Given the description of an element on the screen output the (x, y) to click on. 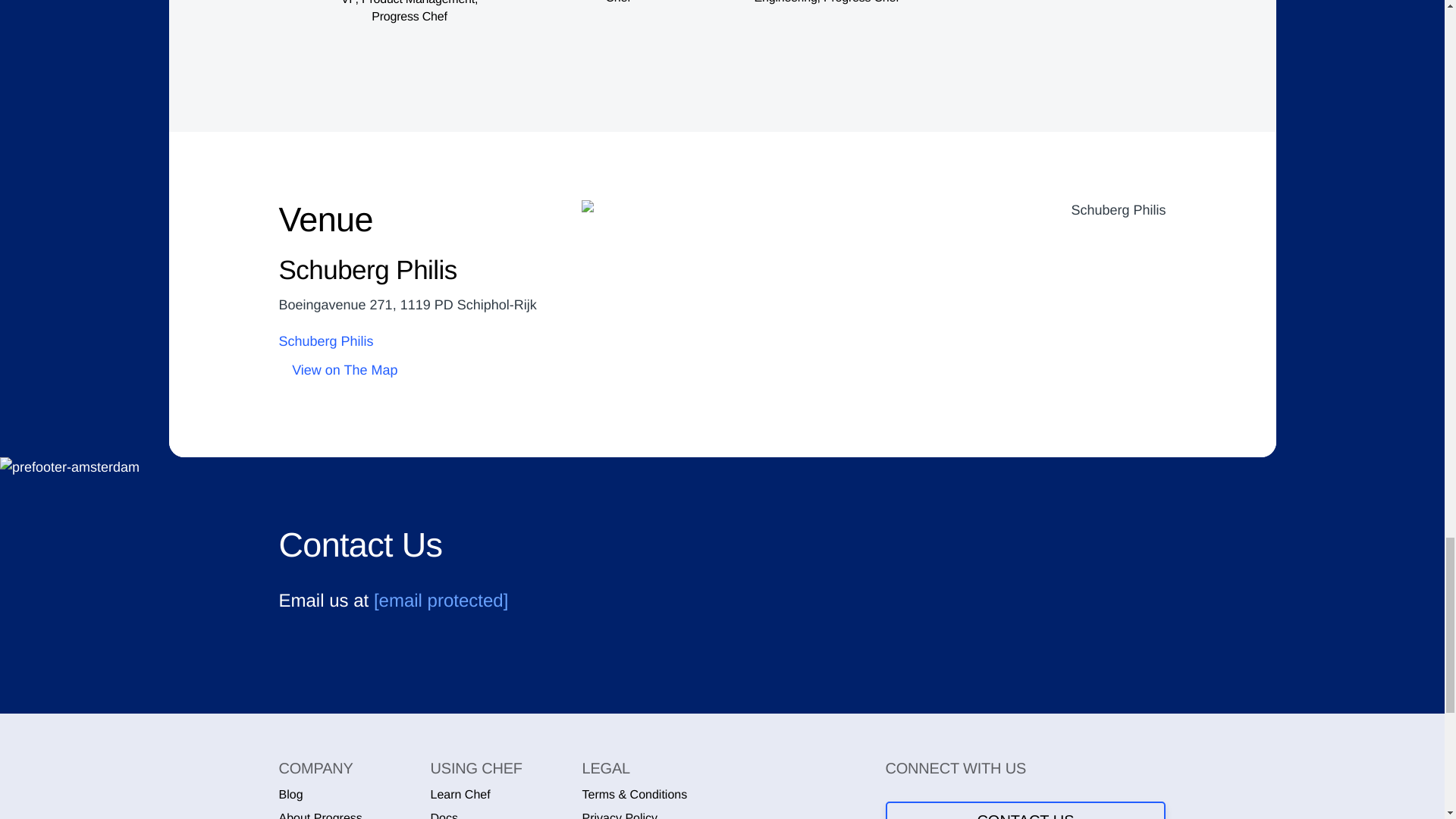
Learn Chef (460, 794)
View on The Map (419, 370)
Schuberg Philis (873, 210)
Blog (290, 794)
About Progress (320, 815)
Schuberg Philis (419, 341)
Docs (444, 815)
